Given the description of an element on the screen output the (x, y) to click on. 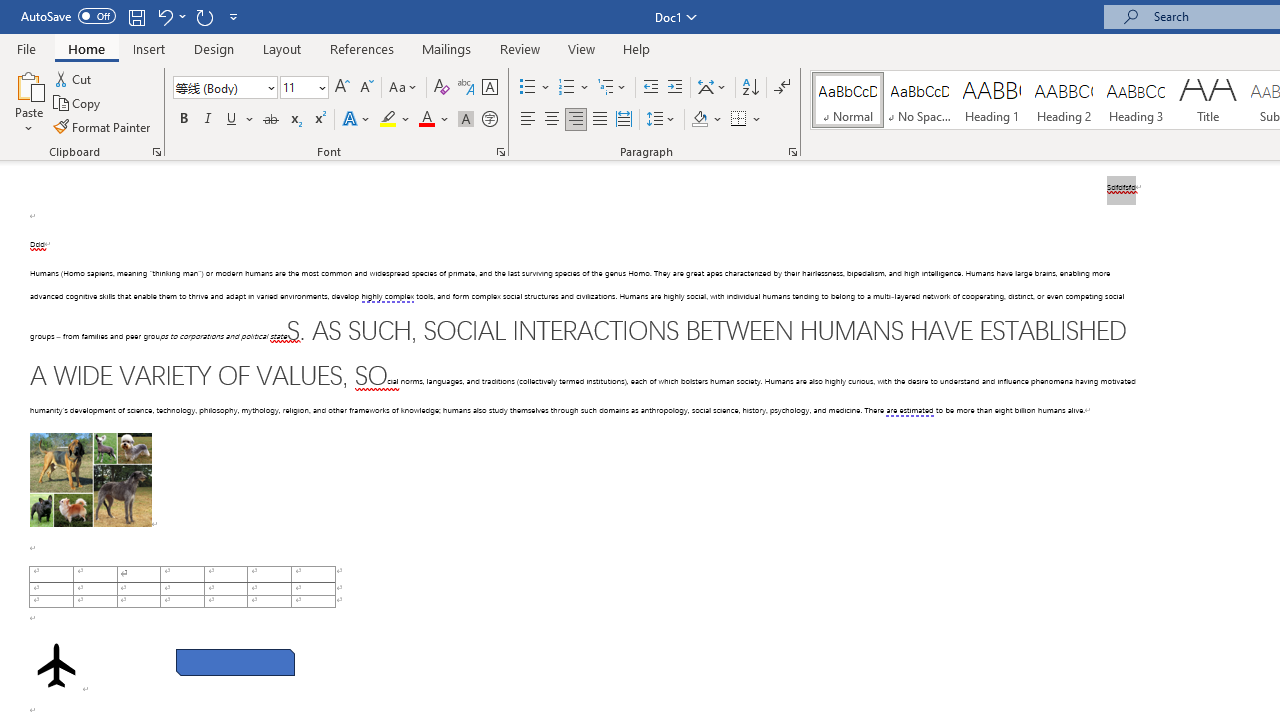
Heading 2 (1063, 100)
Enclose Characters... (489, 119)
Change Case (404, 87)
Distributed (623, 119)
Office Clipboard... (156, 151)
Heading 1 (991, 100)
